Given the description of an element on the screen output the (x, y) to click on. 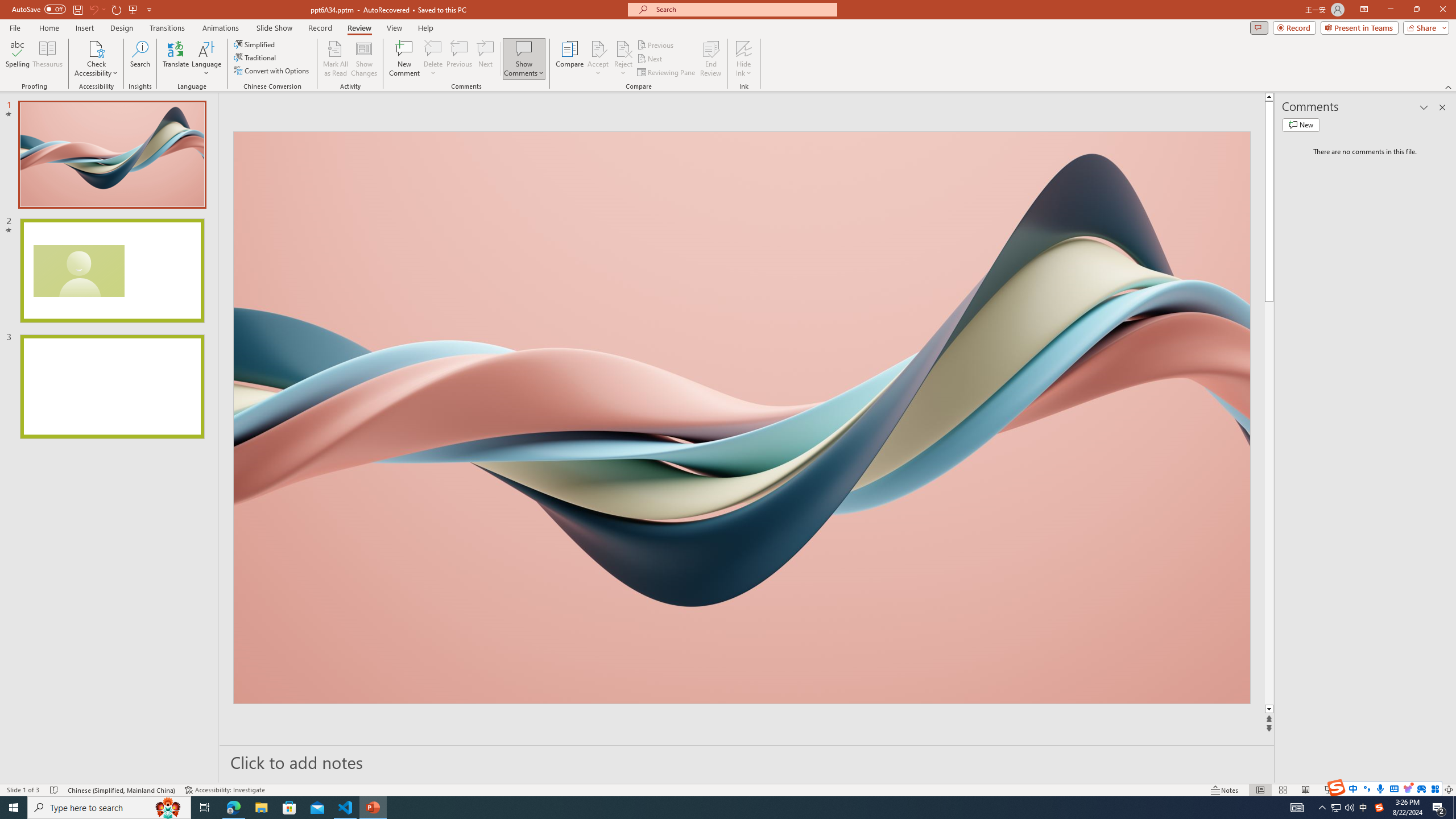
Zoom 140% (1430, 790)
